Given the description of an element on the screen output the (x, y) to click on. 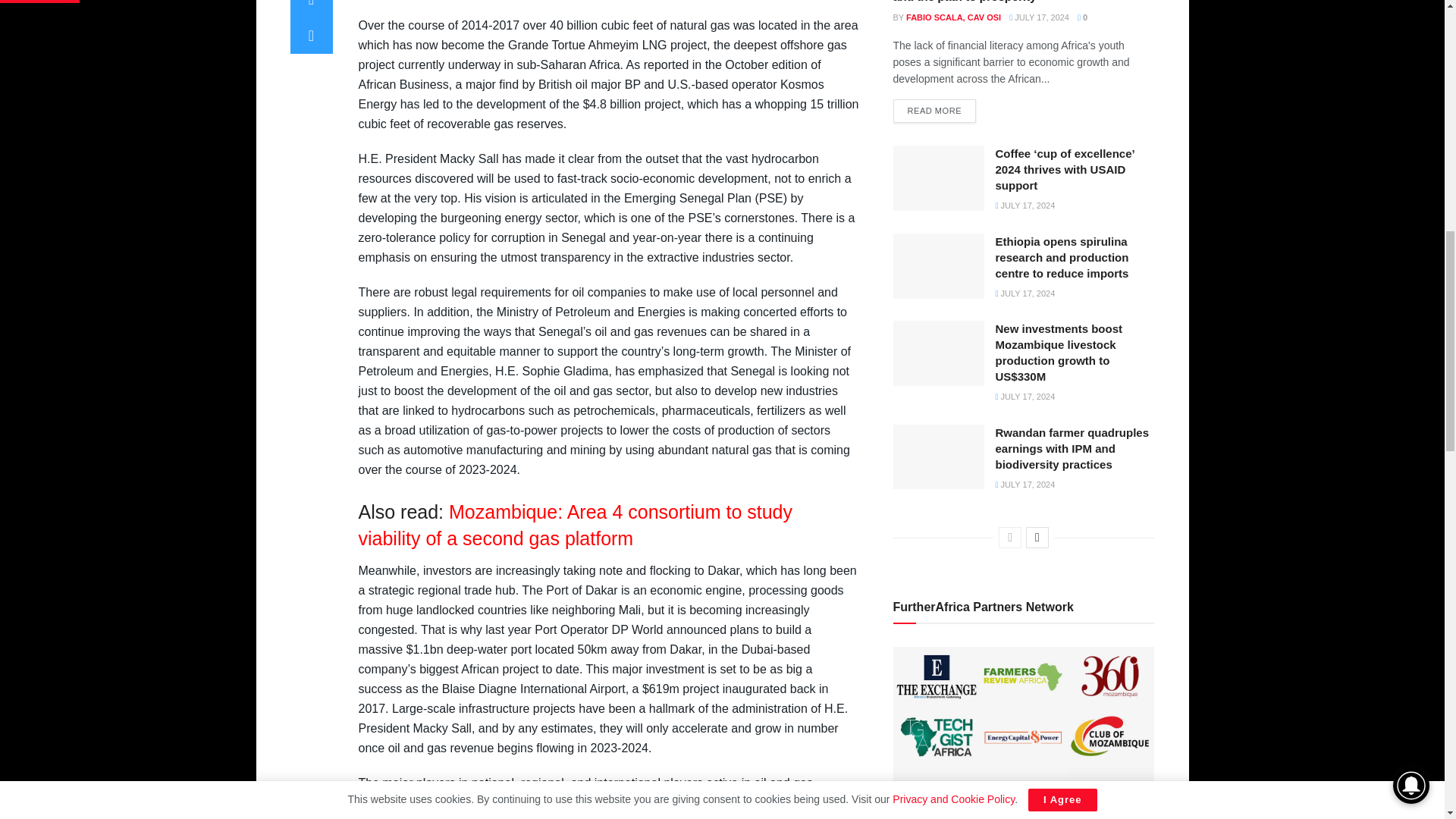
Next (1037, 537)
WebsiteVoice (1352, 19)
Previous (1010, 537)
